Given the description of an element on the screen output the (x, y) to click on. 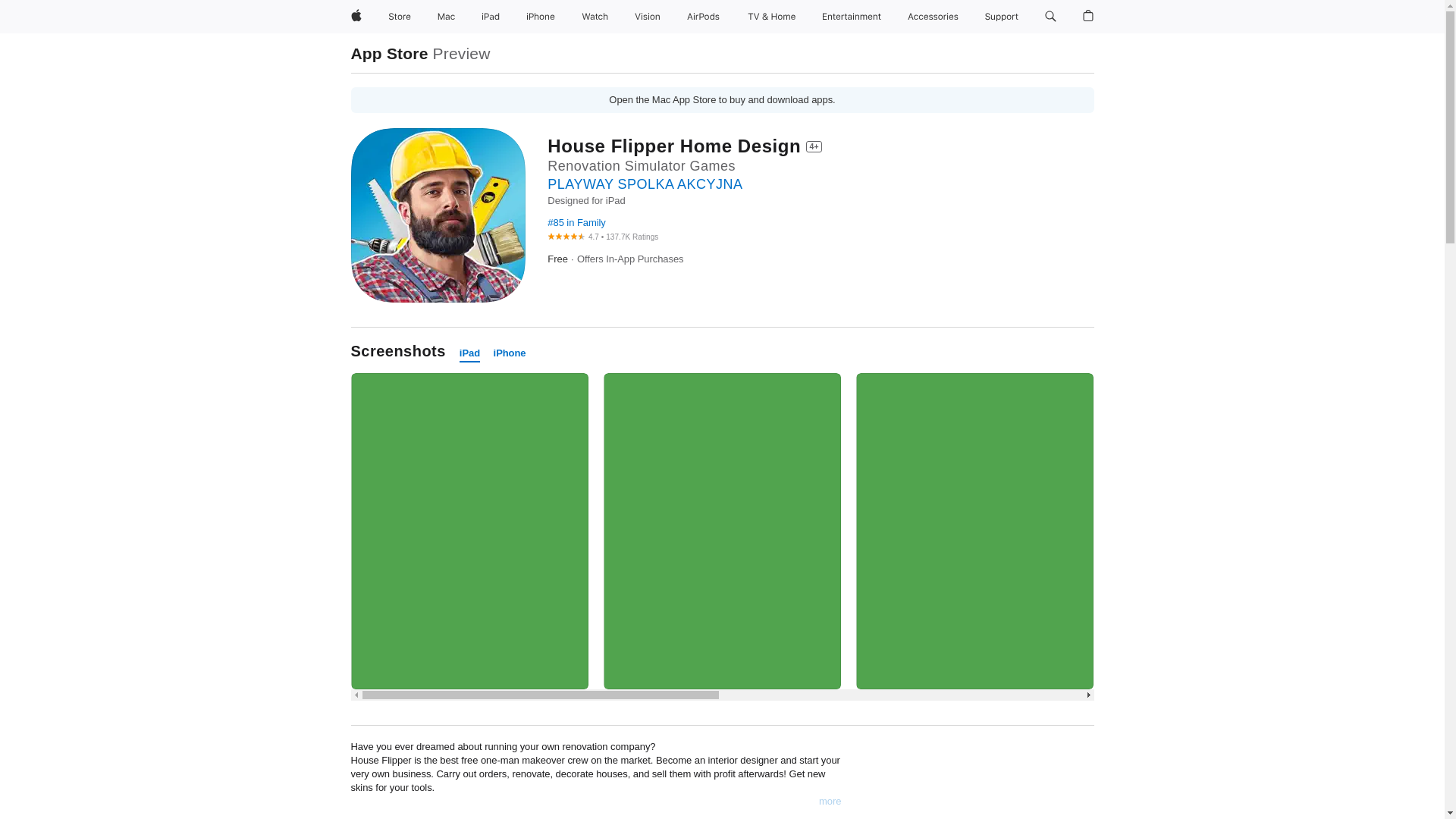
PLAYWAY SPOLKA AKCYJNA (644, 183)
App Store (389, 53)
Support (1001, 16)
iPhone (539, 16)
iPad (470, 353)
Vision (647, 16)
Watch (594, 16)
iPad (490, 16)
Store (398, 16)
AirPods (703, 16)
more (829, 801)
Entertainment (851, 16)
Accessories (932, 16)
iPhone (509, 353)
